Given the description of an element on the screen output the (x, y) to click on. 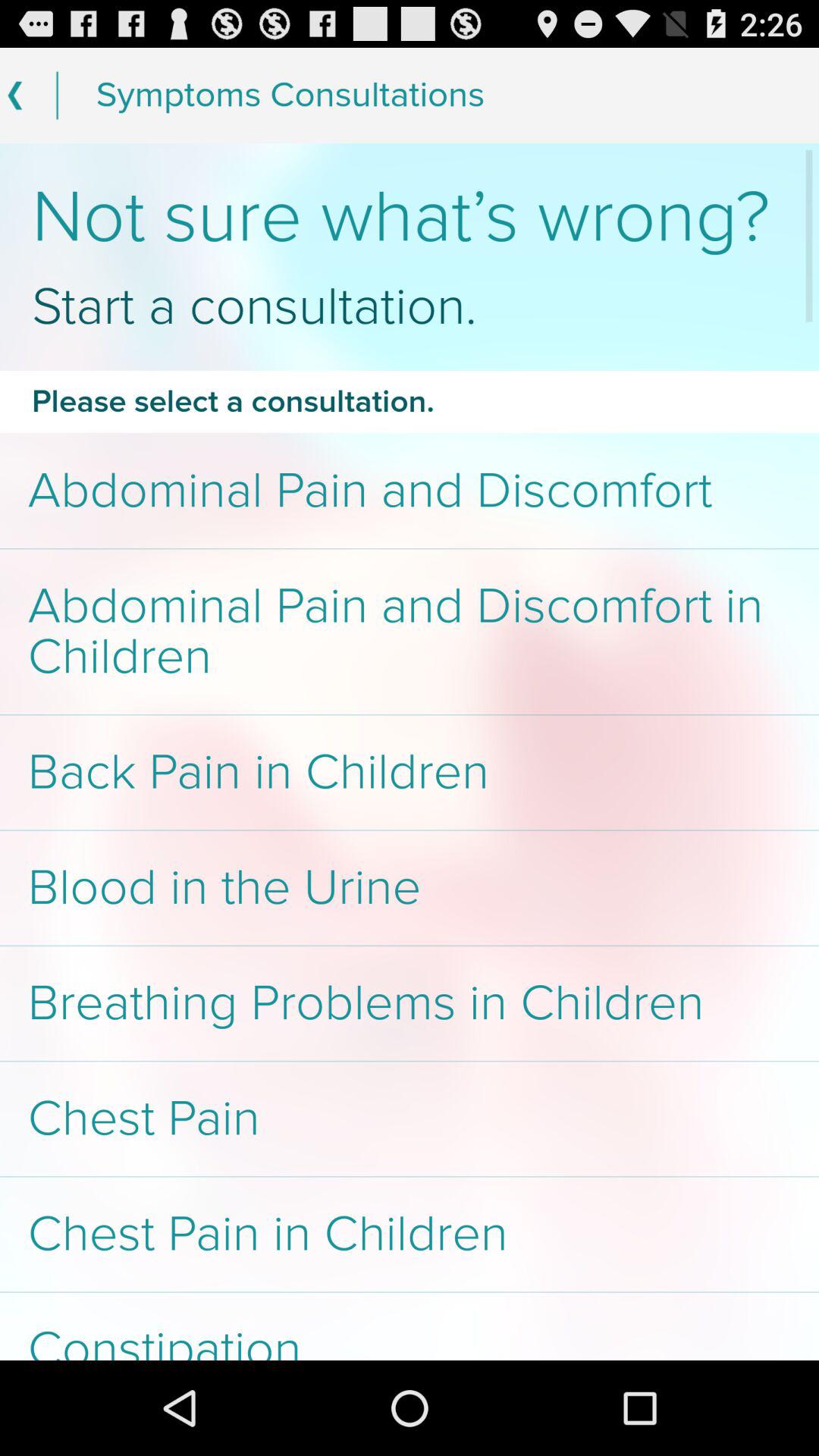
scroll to the please select a item (409, 401)
